Given the description of an element on the screen output the (x, y) to click on. 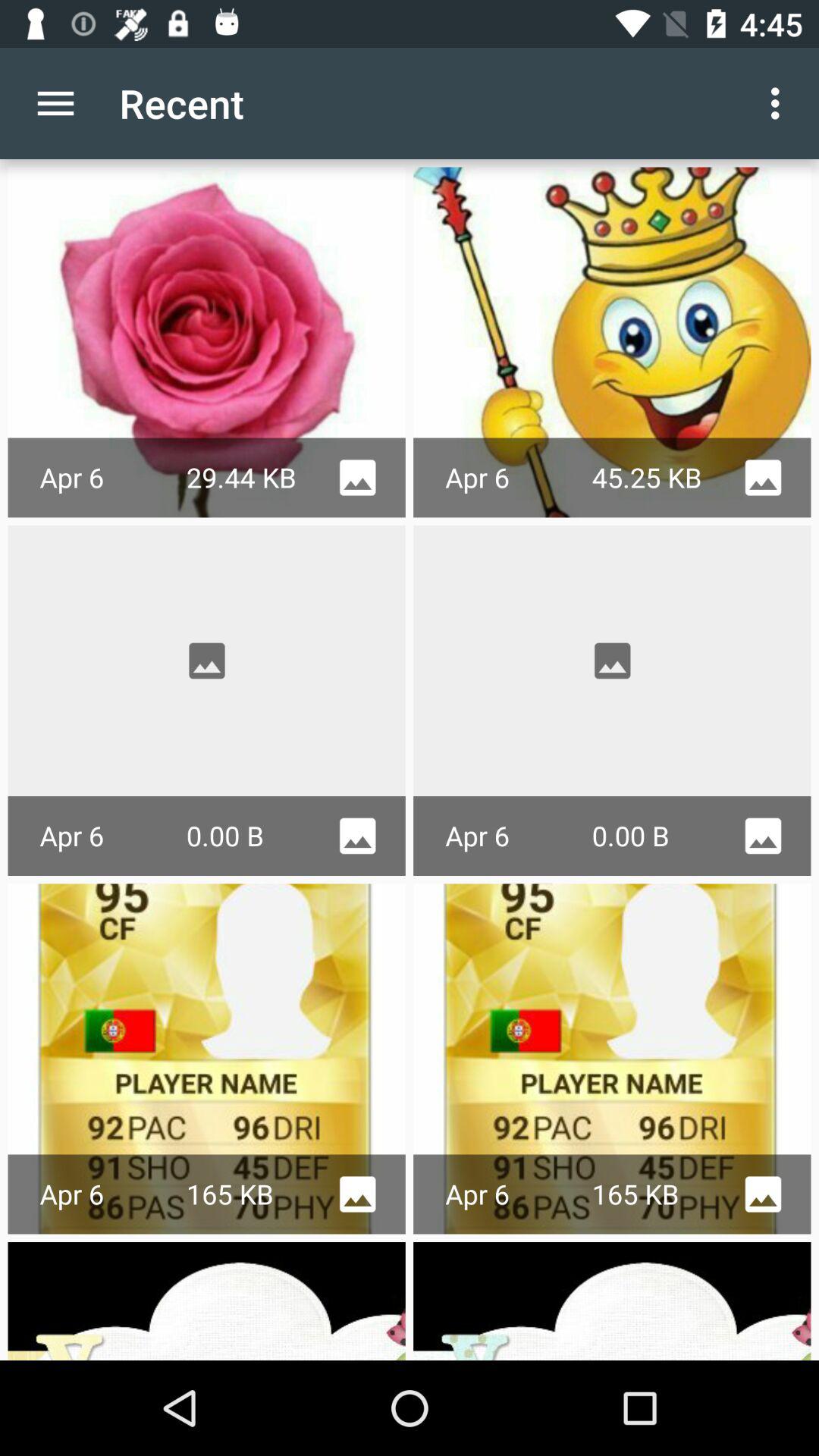
select the first image which is on the bottom left corner of page (206, 1300)
click the image with the smiley (612, 342)
go to second option in third row (612, 1058)
select the second image under the recent (612, 342)
select the first image below the recent (206, 302)
select the first image which is in the first row (206, 342)
